Given the description of an element on the screen output the (x, y) to click on. 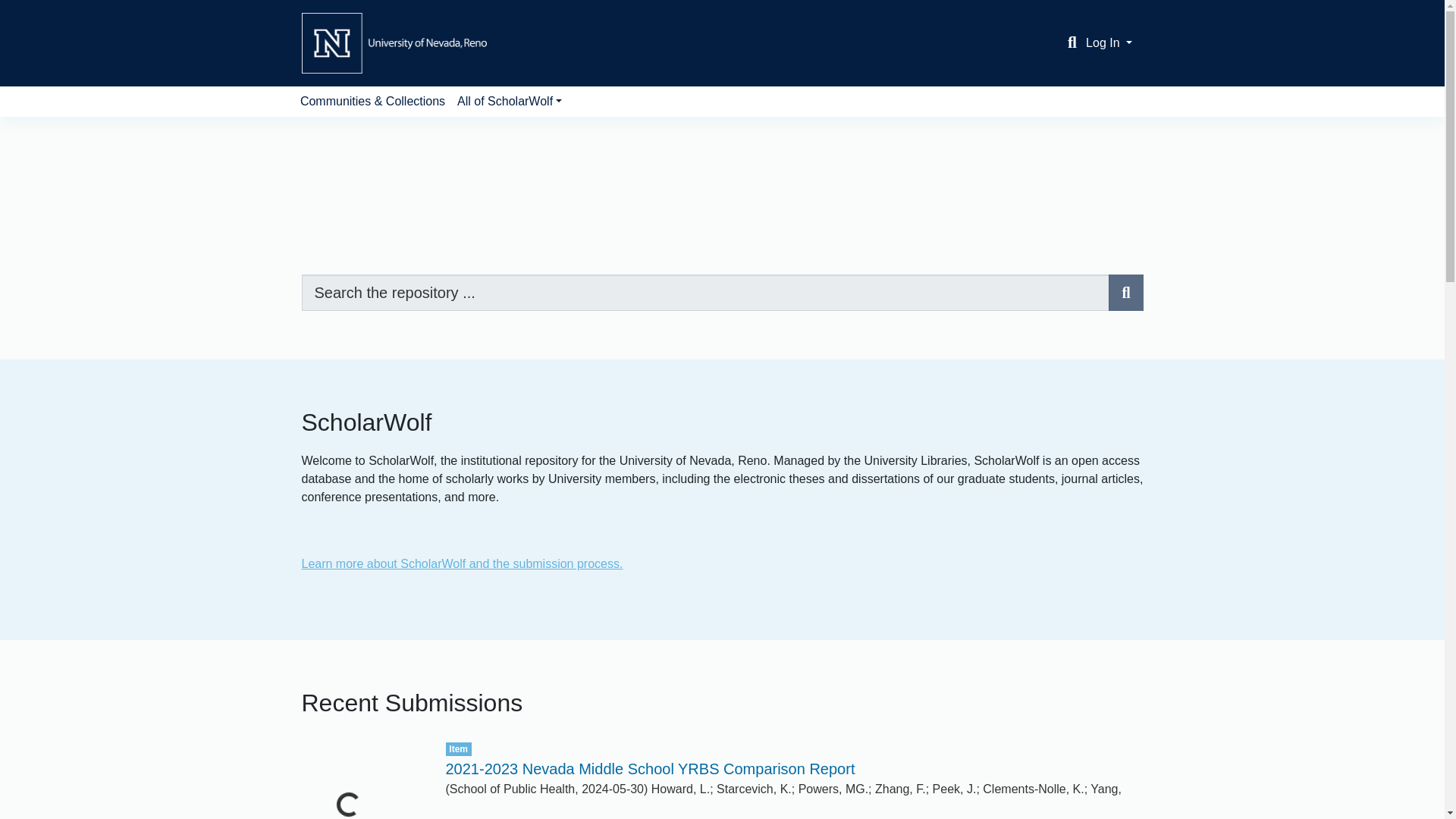
Search (1125, 292)
Search (1072, 43)
Log In (1108, 42)
Learn more about ScholarWolf and the submission process. (462, 563)
All of ScholarWolf (509, 101)
2021-2023 Nevada Middle School YRBS Comparison Report (650, 768)
Loading... (362, 779)
